Given the description of an element on the screen output the (x, y) to click on. 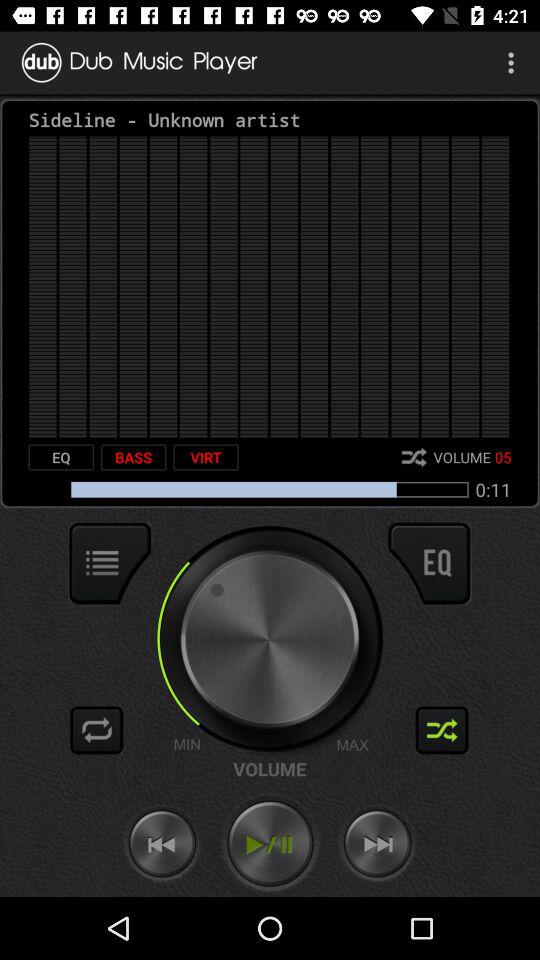
toggle repeat (97, 730)
